Given the description of an element on the screen output the (x, y) to click on. 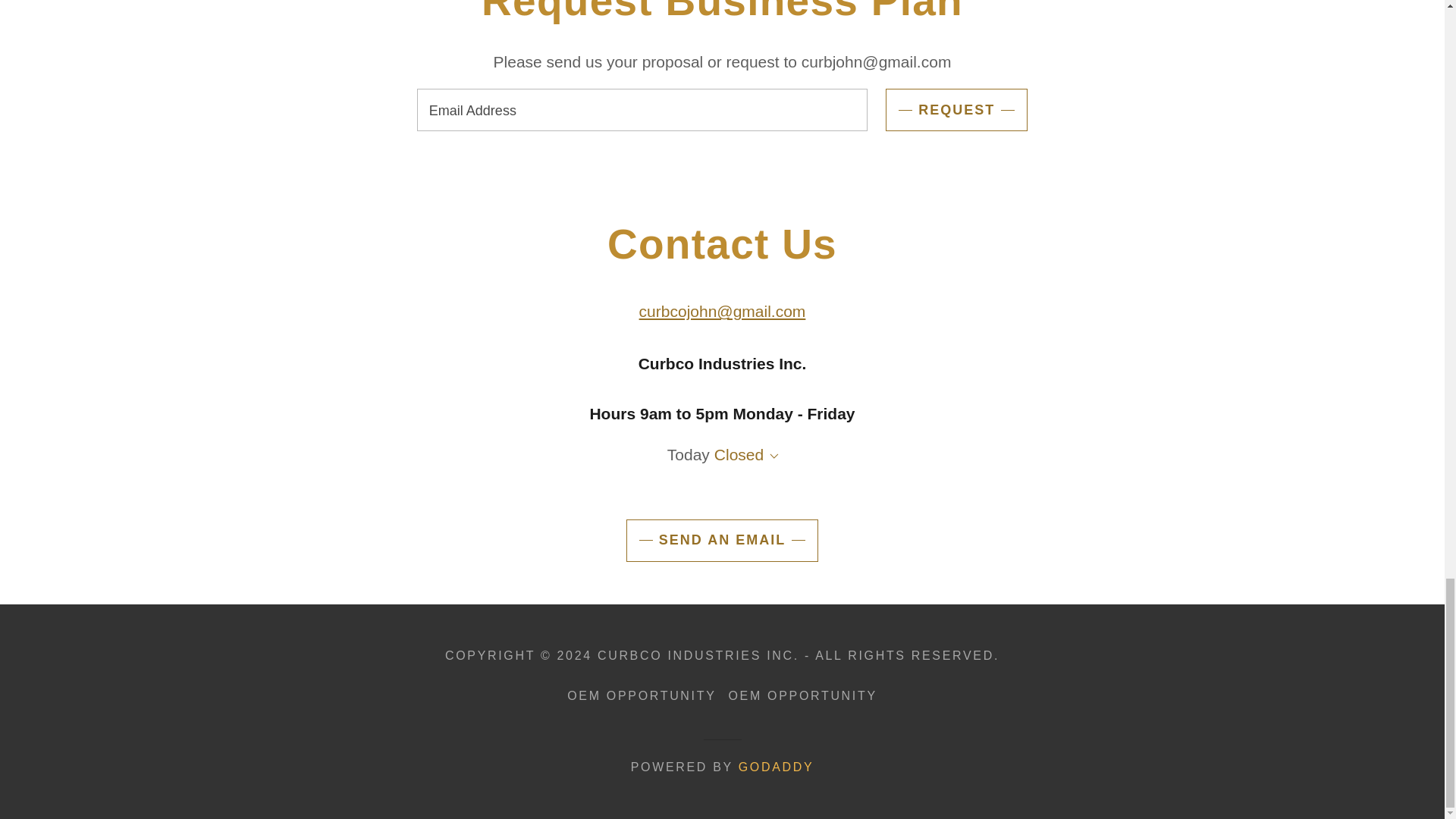
REQUEST (956, 109)
OEM OPPORTUNITY (641, 696)
SEND AN EMAIL (722, 540)
OEM OPPORTUNITY (802, 696)
GODADDY (775, 766)
